Given the description of an element on the screen output the (x, y) to click on. 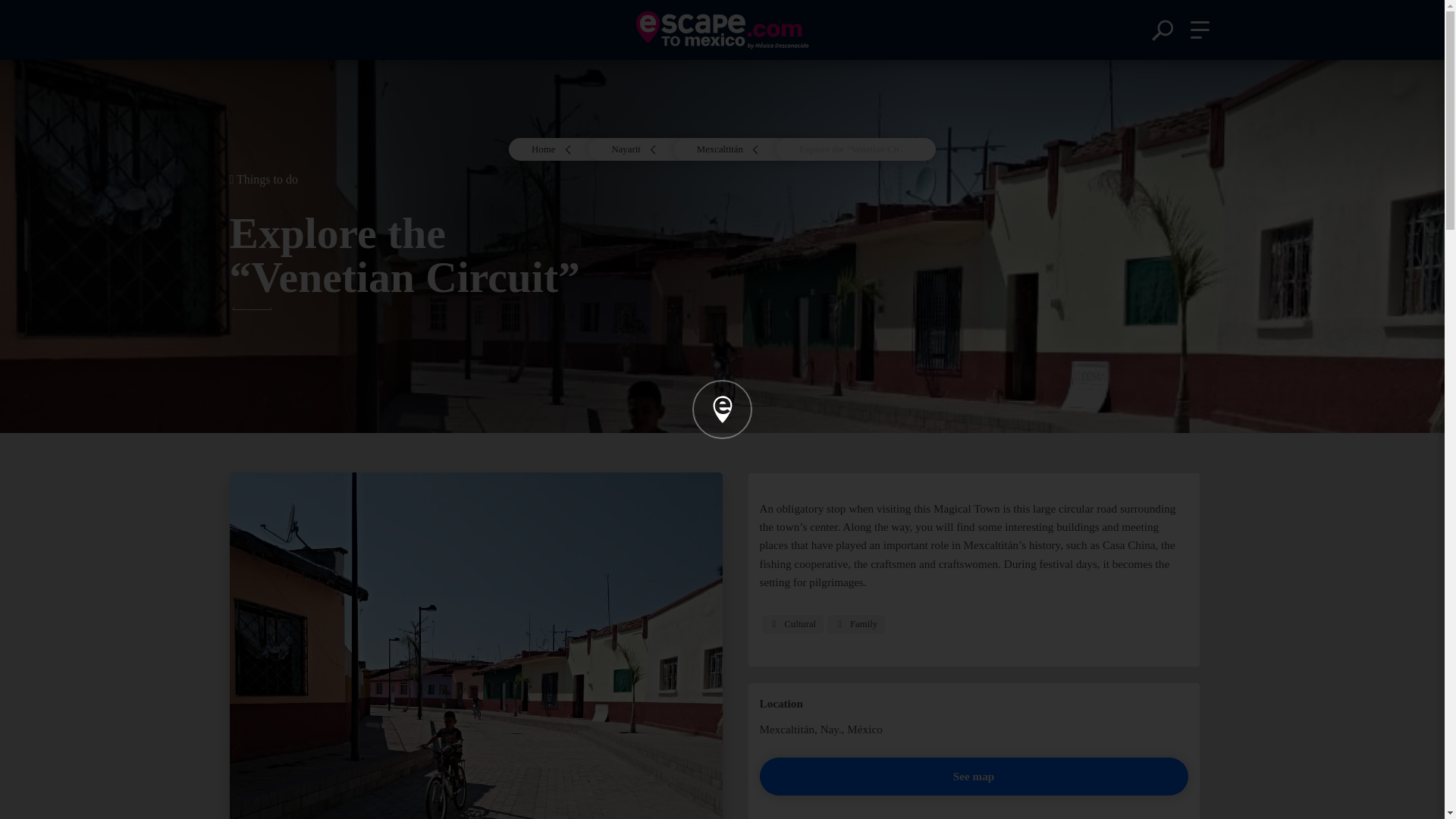
See map (974, 776)
Acceder (720, 485)
Home (559, 149)
Nayarit (641, 149)
